Given the description of an element on the screen output the (x, y) to click on. 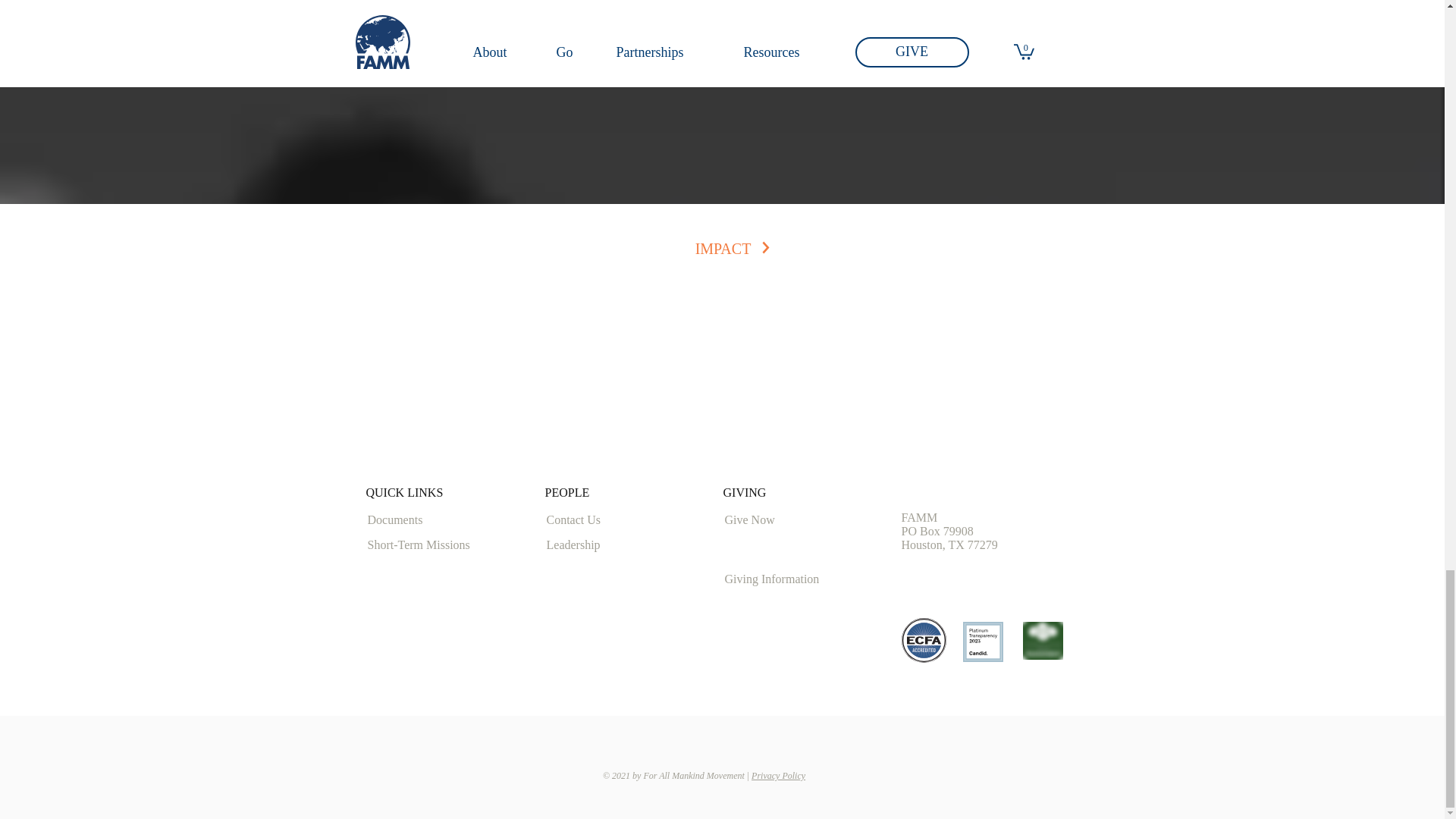
Site Search (719, 433)
Give Now (779, 520)
IMPACT (723, 248)
Documents (421, 520)
Giving Information (779, 579)
Contact Us (598, 520)
Leadership (603, 546)
Privacy Policy (778, 775)
Short-Term Missions (427, 546)
